Given the description of an element on the screen output the (x, y) to click on. 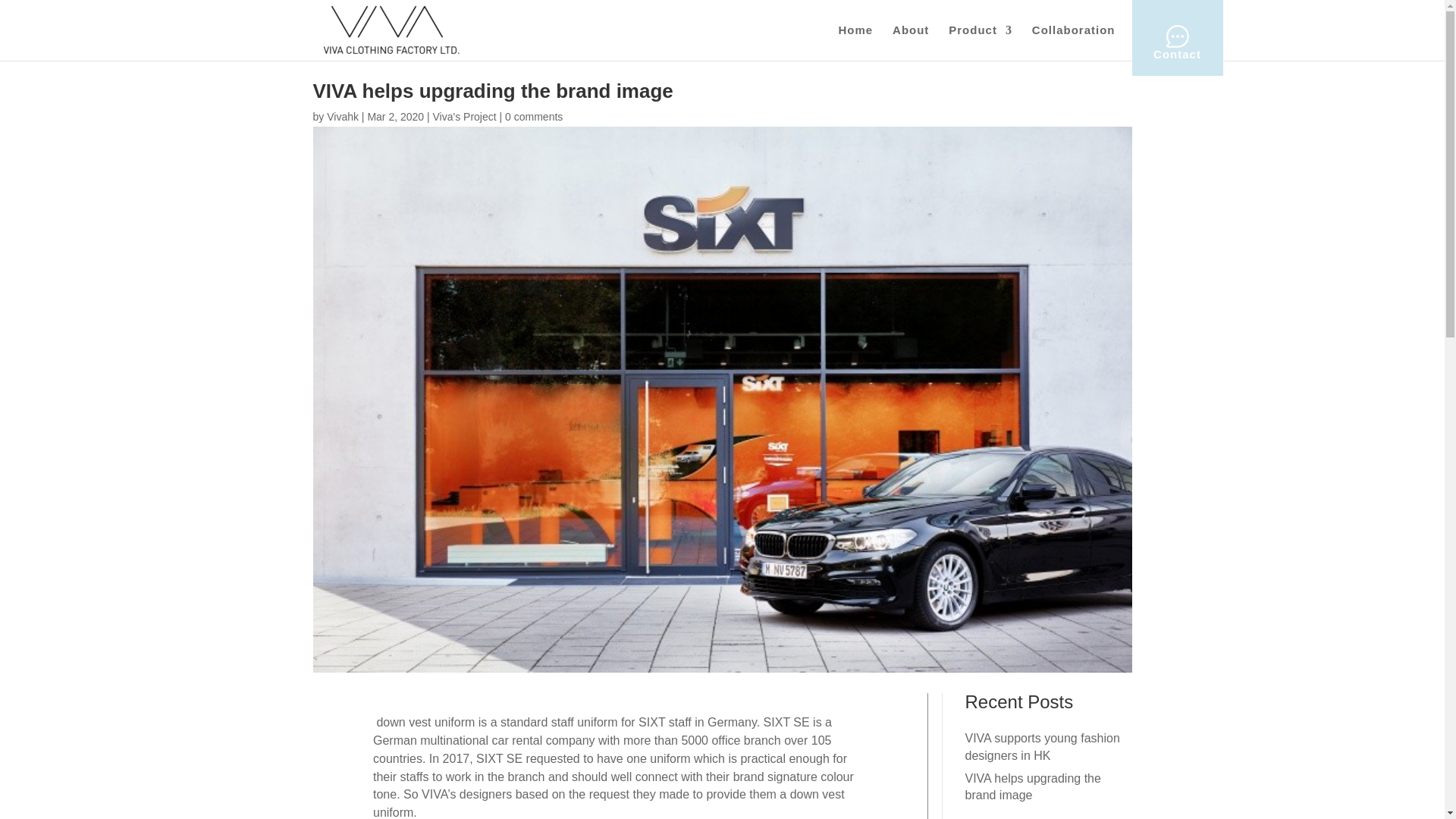
Contact (1177, 42)
VIVA helps upgrading the brand image (1031, 786)
Vivahk (342, 116)
Posts by Vivahk (342, 116)
0 comments (533, 116)
VIVA supports young fashion designers in HK (1041, 746)
Product (980, 30)
Viva's Project (464, 116)
Collaboration (1073, 30)
